Given the description of an element on the screen output the (x, y) to click on. 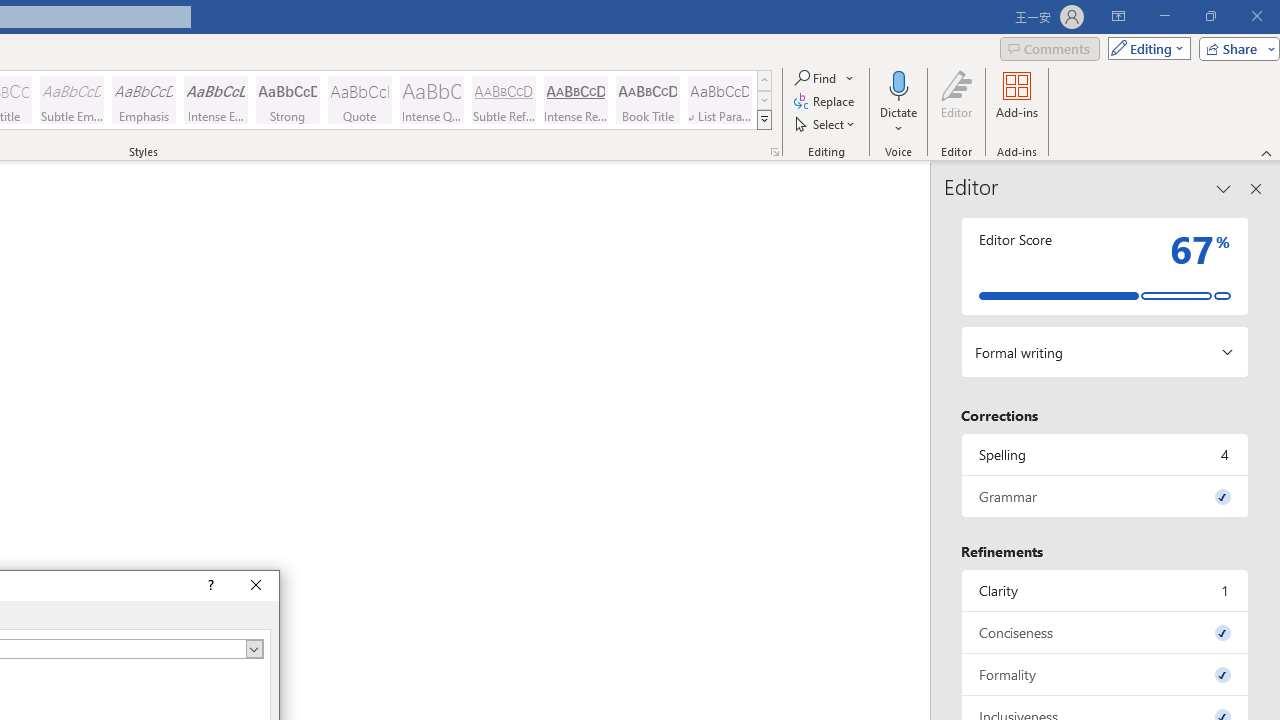
Replace... (826, 101)
Subtle Reference (504, 100)
Context help (208, 585)
Clarity, 1 issue. Press space or enter to review items. (1105, 590)
Conciseness, 0 issues. Press space or enter to review items. (1105, 632)
Editing (1144, 47)
